Given the description of an element on the screen output the (x, y) to click on. 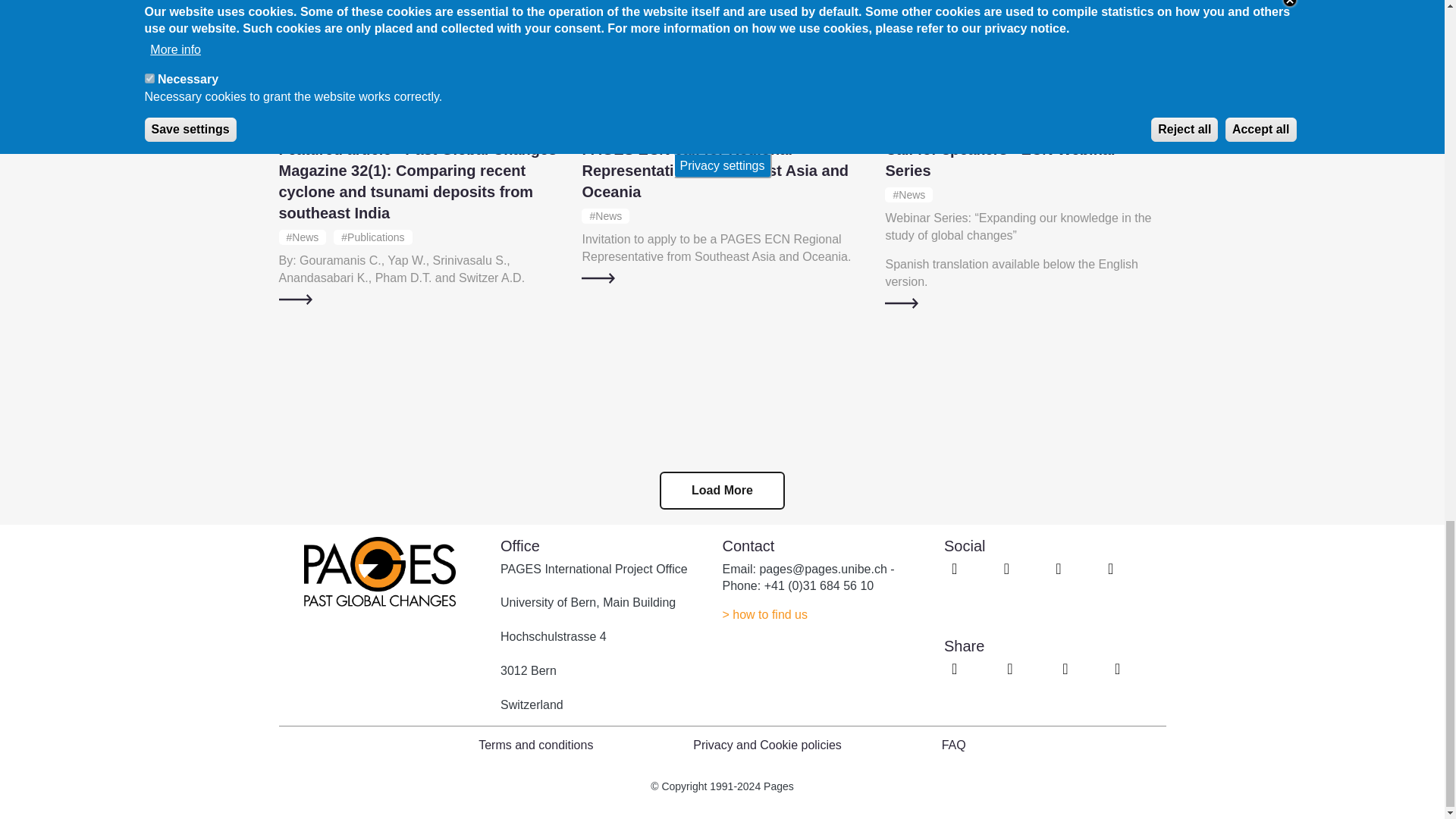
Go to next page (721, 490)
